Given the description of an element on the screen output the (x, y) to click on. 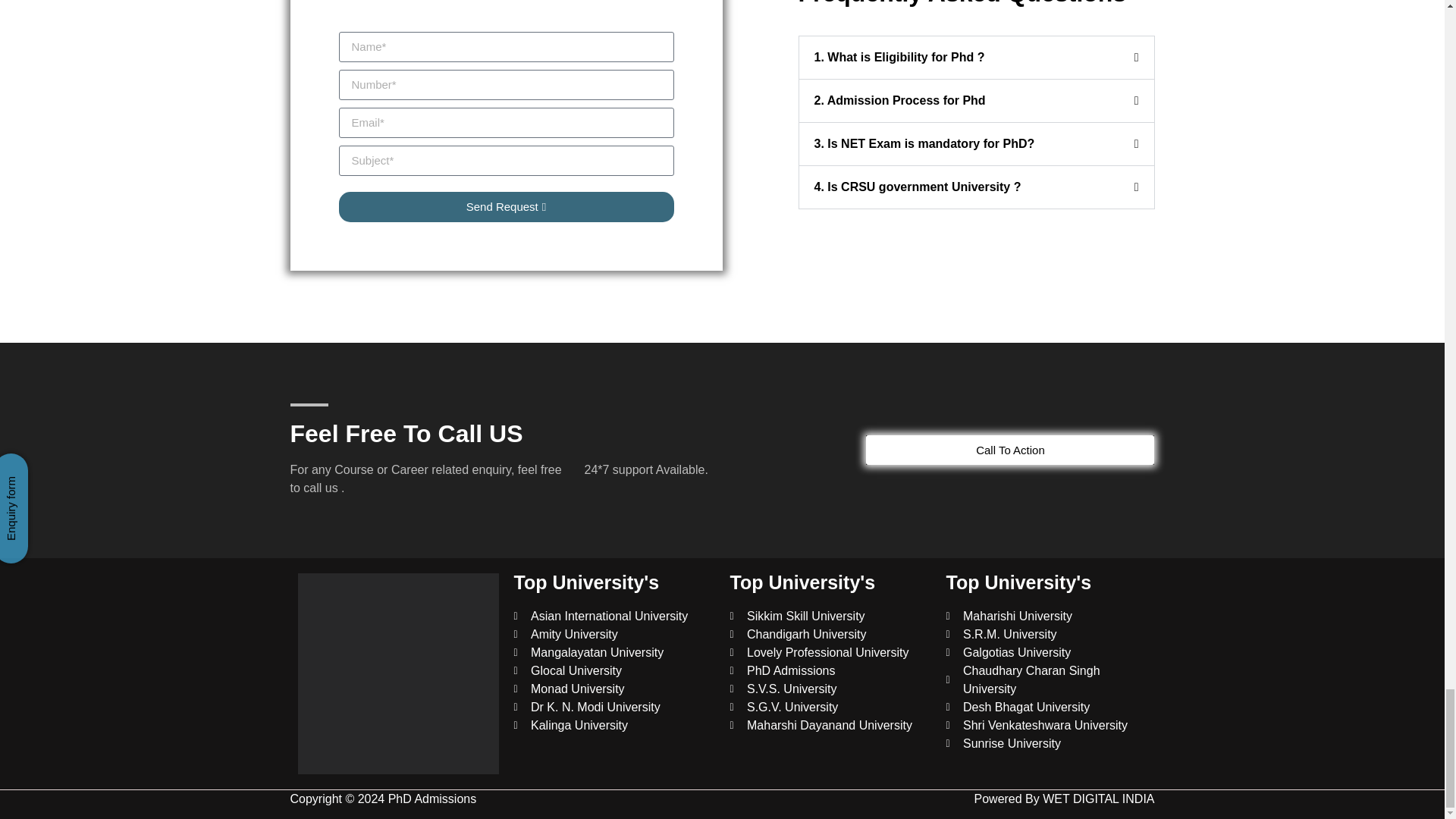
1. What is Eligibility for Phd ? (899, 56)
4. Is CRSU government University ? (917, 186)
Monad University (613, 689)
Glocal University (613, 670)
Send Request (504, 206)
Call To Action (1010, 449)
2. Admission Process for Phd (899, 100)
Asian International University (613, 616)
3. Is NET Exam is mandatory for PhD? (924, 143)
Mangalayatan University (613, 652)
